Given the description of an element on the screen output the (x, y) to click on. 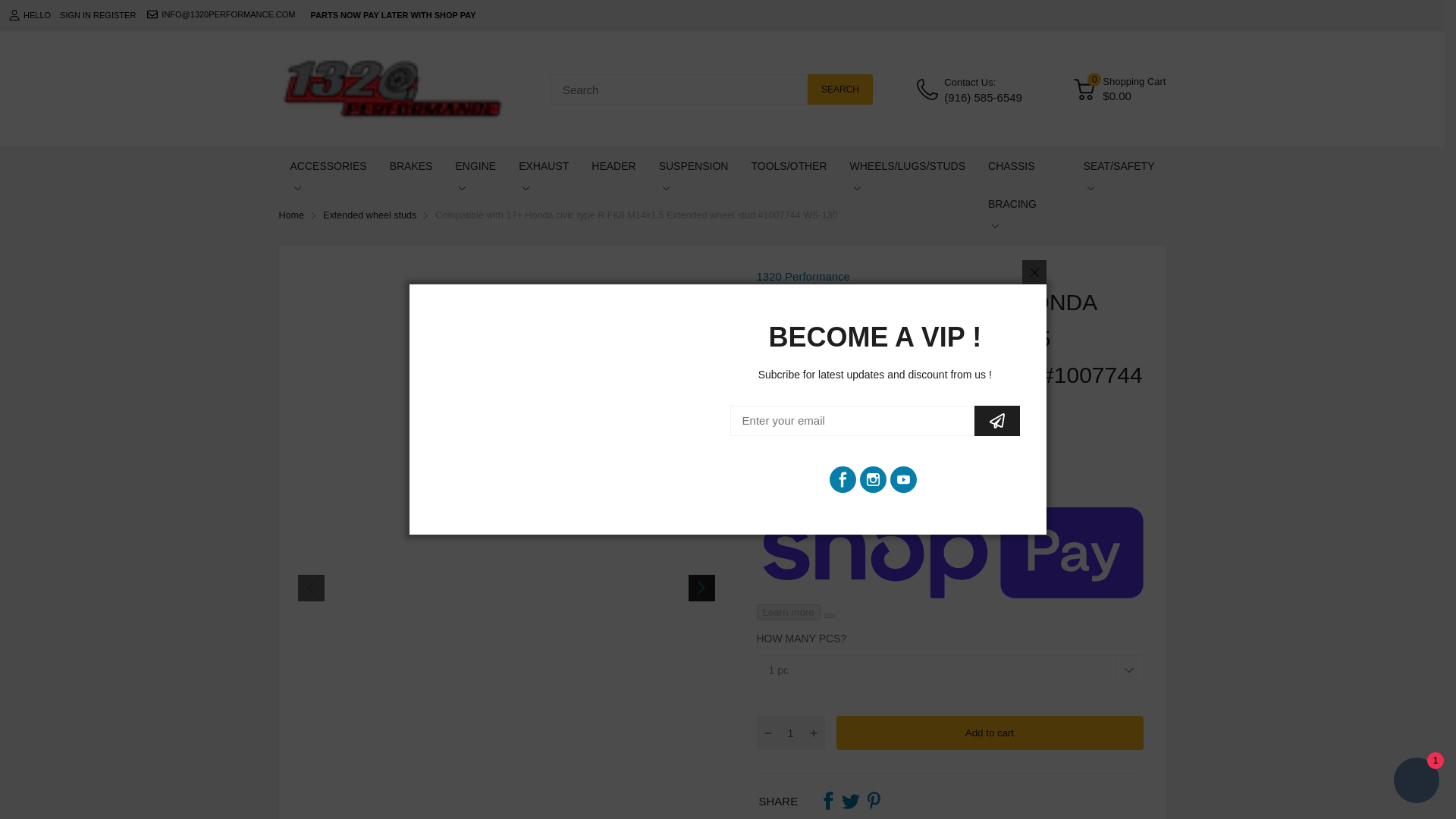
Extended wheel studs (369, 214)
SIGN IN (74, 14)
1320 Performance (803, 276)
Pinterest (873, 800)
HELLO (29, 15)
PARTS NOW PAY LATER WITH SHOP PAY (393, 14)
Youtube (903, 479)
Facebook (827, 800)
CHASSIS BRACING (1024, 184)
Home (291, 214)
BRAKES (411, 166)
SEARCH (840, 89)
Shopify online store chat (1416, 781)
Close (1034, 272)
ACCESSORIES (327, 166)
